Given the description of an element on the screen output the (x, y) to click on. 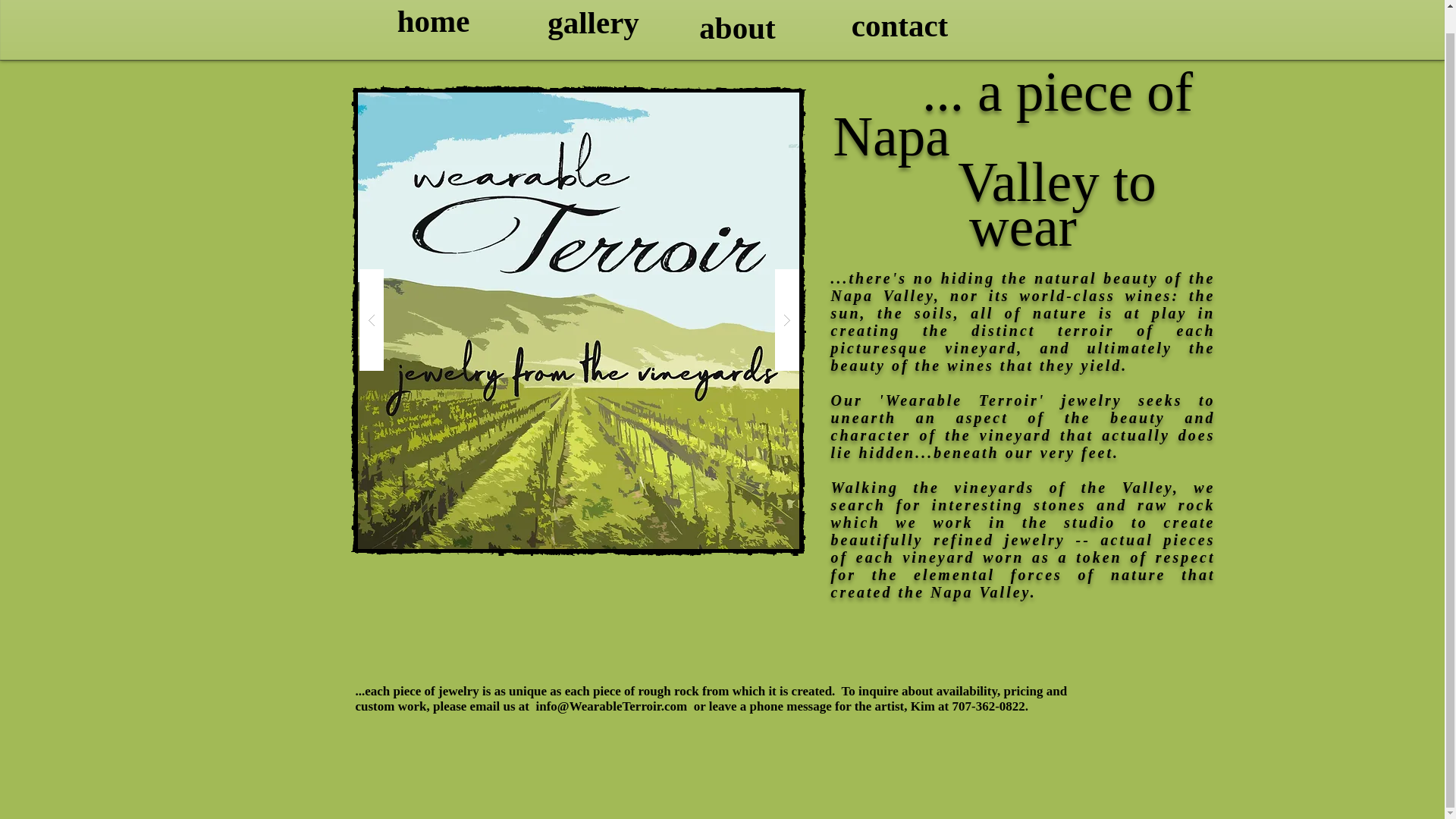
gallery (593, 25)
about (738, 27)
contact (899, 25)
home (432, 25)
